Given the description of an element on the screen output the (x, y) to click on. 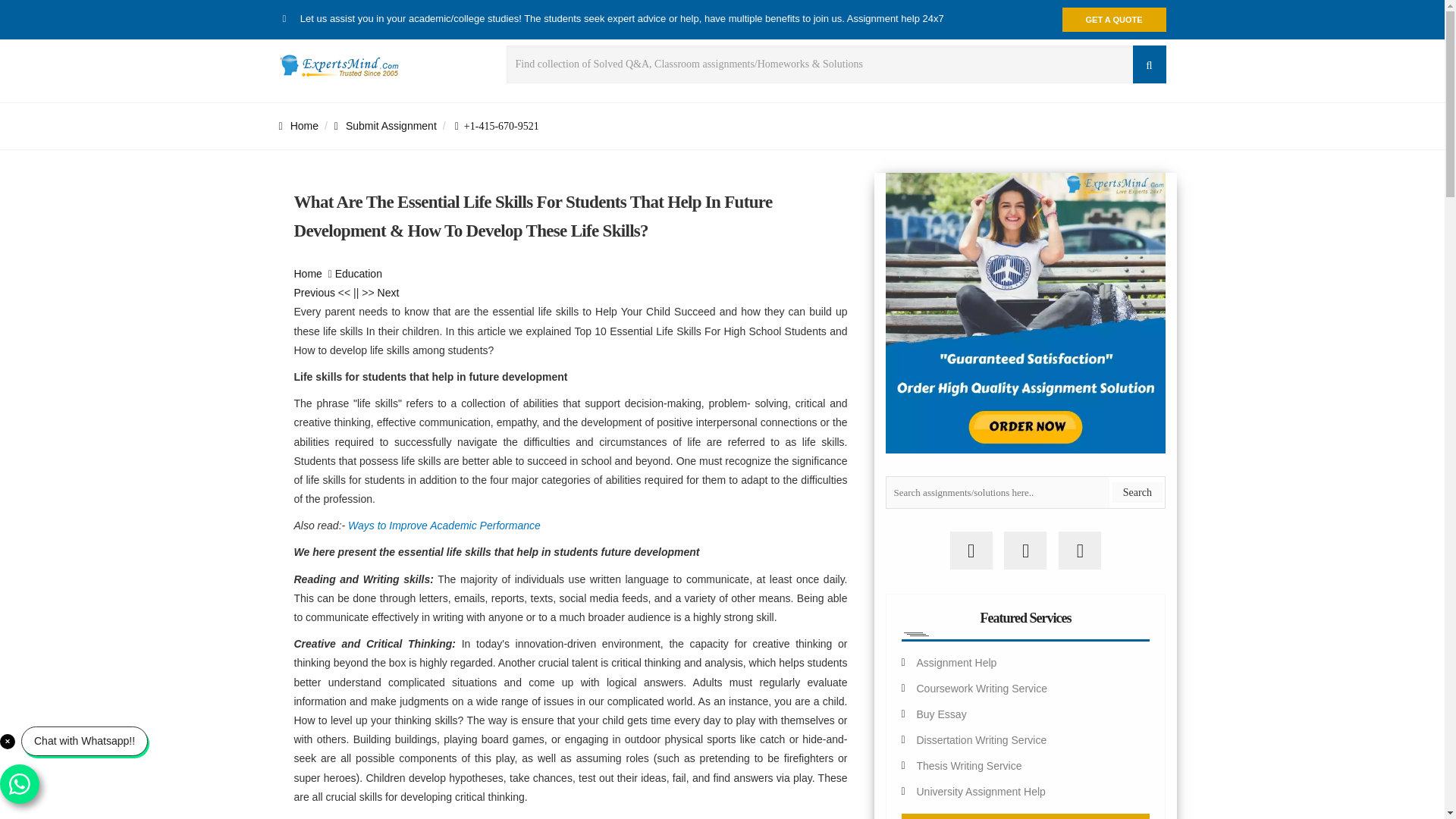
assignment help (307, 273)
Home (307, 273)
Ways to Improve Academic Performance (443, 525)
GET A QUOTE (1114, 19)
Submit Assignment (385, 125)
Education (357, 273)
University Assignment Help (980, 791)
Search (1136, 492)
Next (387, 292)
Previous (314, 292)
GET A QUOTE (1114, 19)
Home (298, 125)
assignment help (298, 125)
